Given the description of an element on the screen output the (x, y) to click on. 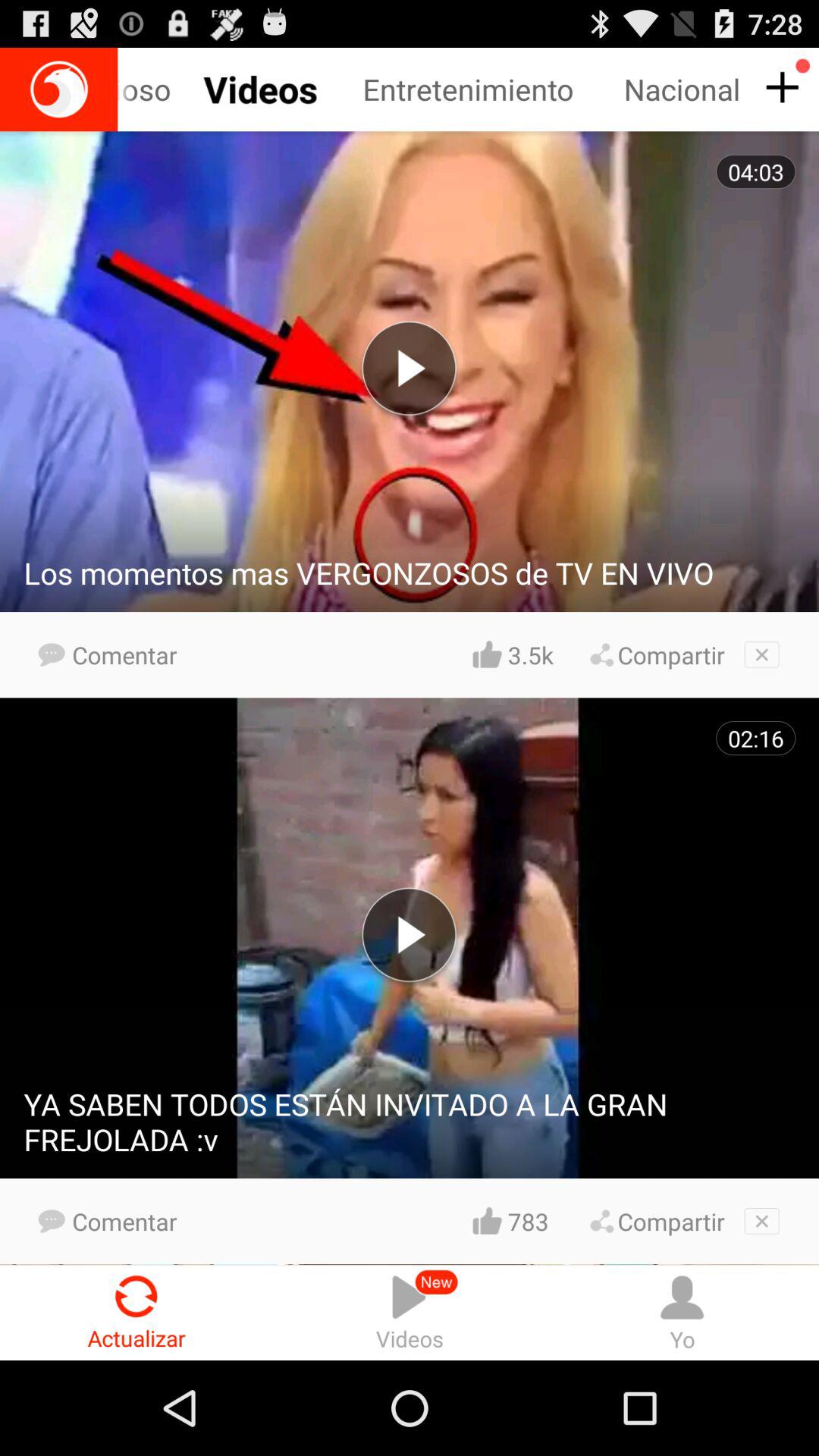
remove video (761, 1221)
